Given the description of an element on the screen output the (x, y) to click on. 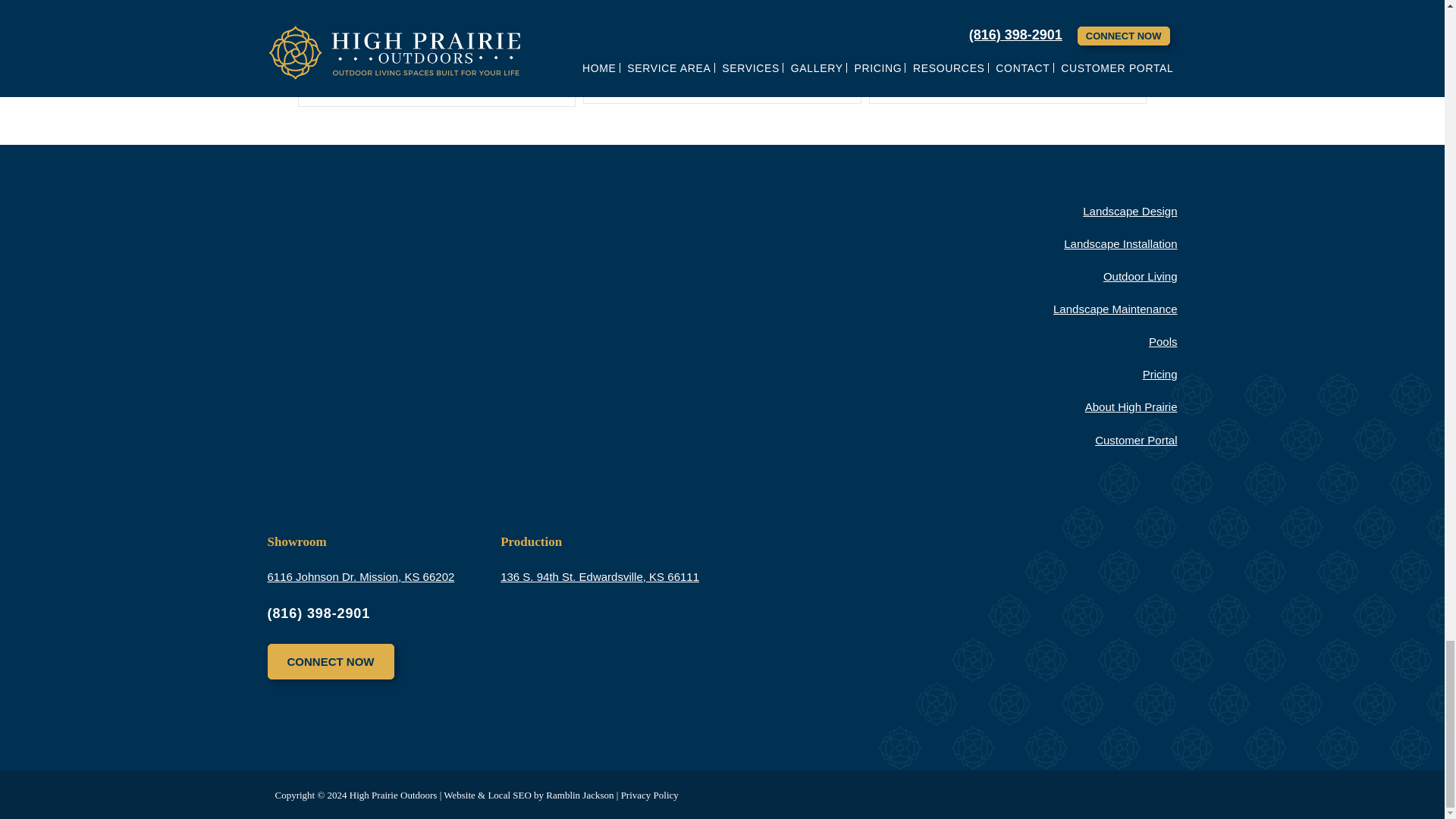
What is Hardscape Cleaning and Servicing? (986, 2)
